Given the description of an element on the screen output the (x, y) to click on. 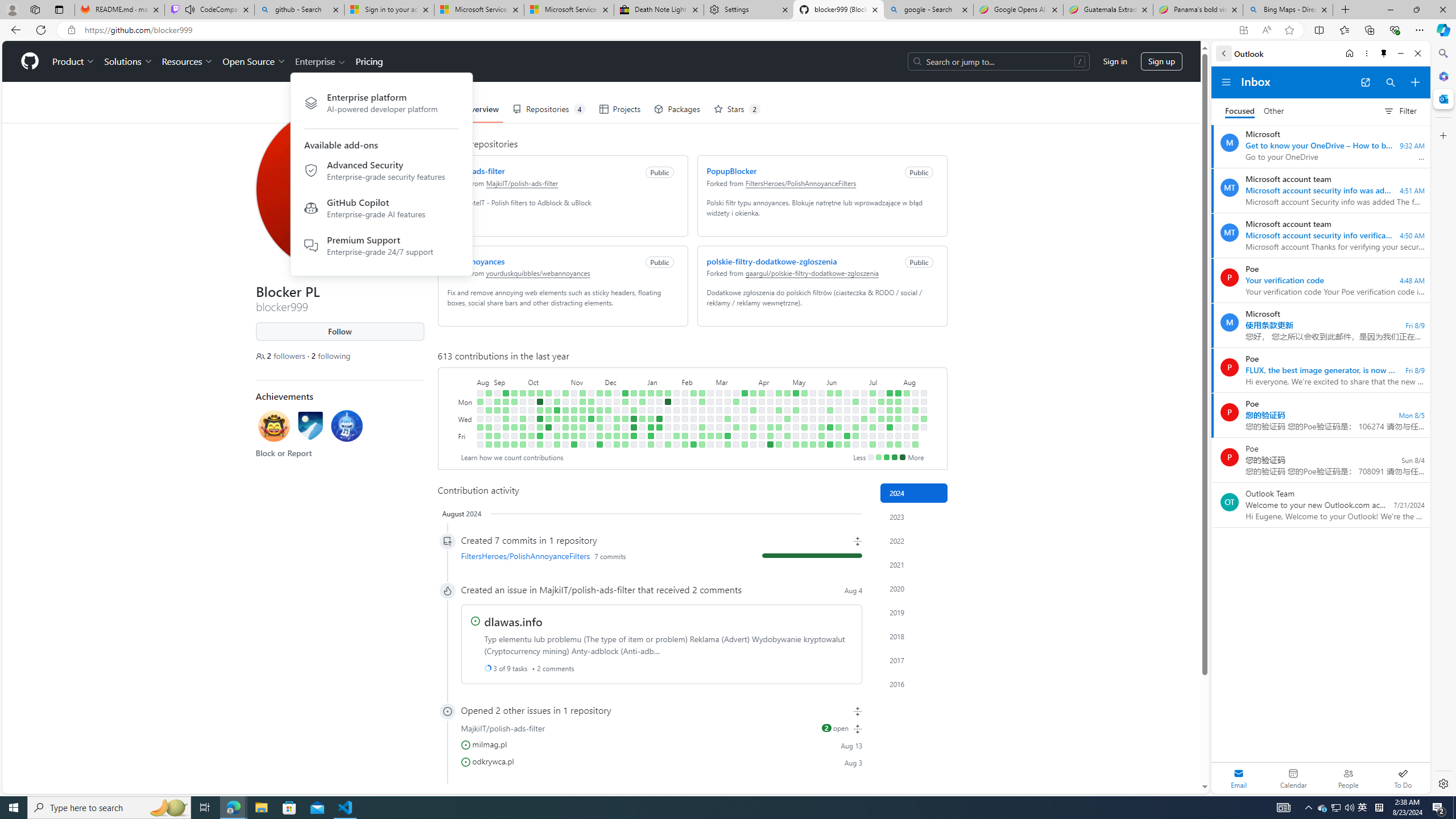
1 contribution on September 16th. (505, 444)
Google Opens AI Academy for Startups - Nearshore Americas (1018, 9)
No contributions on February 25th. (710, 392)
No contributions on March 12th. (726, 410)
Saturday (465, 444)
No contributions on November 27th. (598, 401)
No contributions on January 26th. (667, 435)
No contributions on March 6th. (718, 418)
2018 (913, 636)
No contributions on February 6th. (684, 410)
No contributions on February 16th. (693, 435)
2 contributions on June 13th. (837, 427)
Tab actions menu (58, 9)
No contributions on October 7th. (530, 444)
No contributions on July 14th. (880, 392)
